Given the description of an element on the screen output the (x, y) to click on. 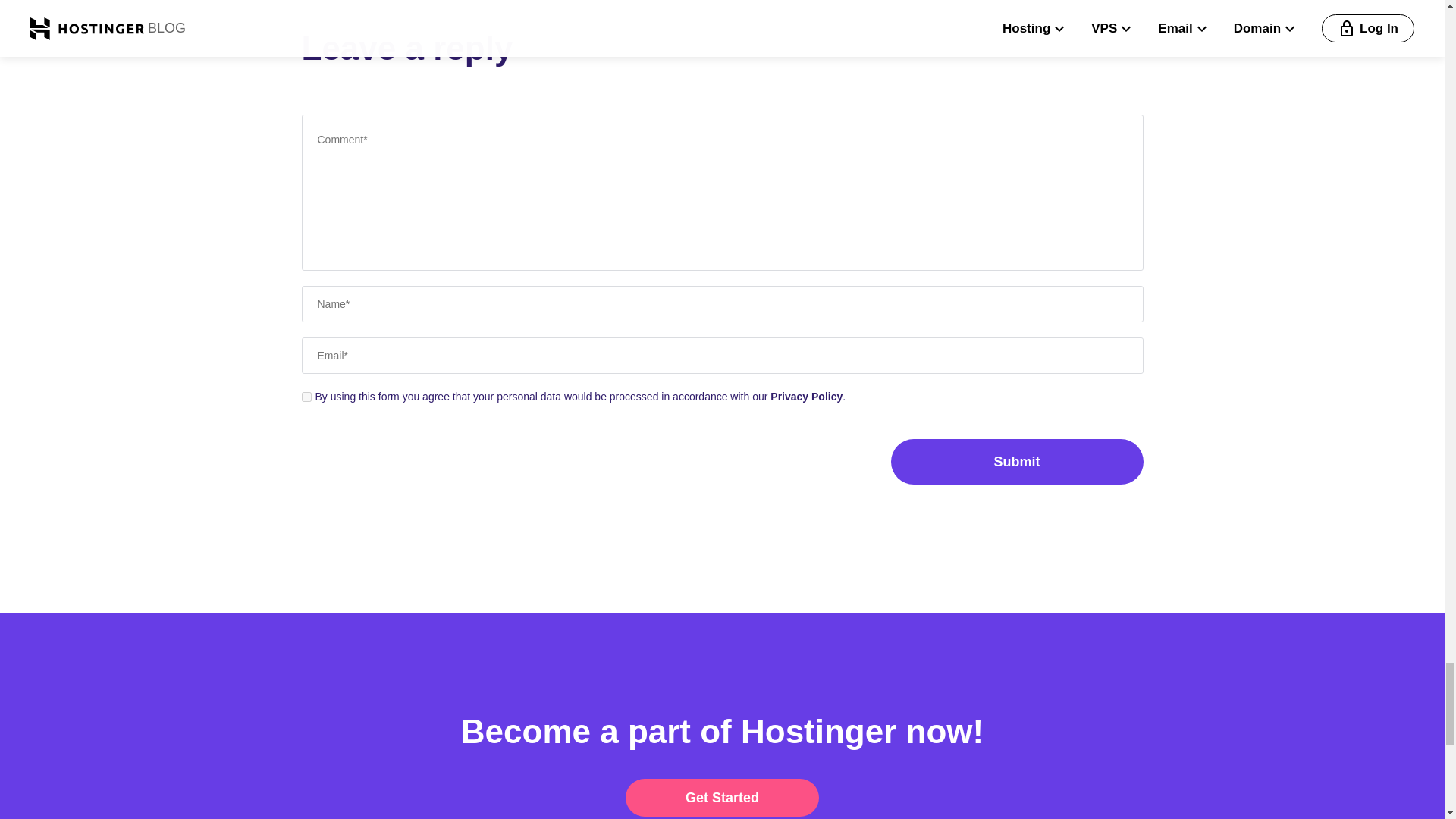
Submit (1015, 461)
yes (306, 397)
